Given the description of an element on the screen output the (x, y) to click on. 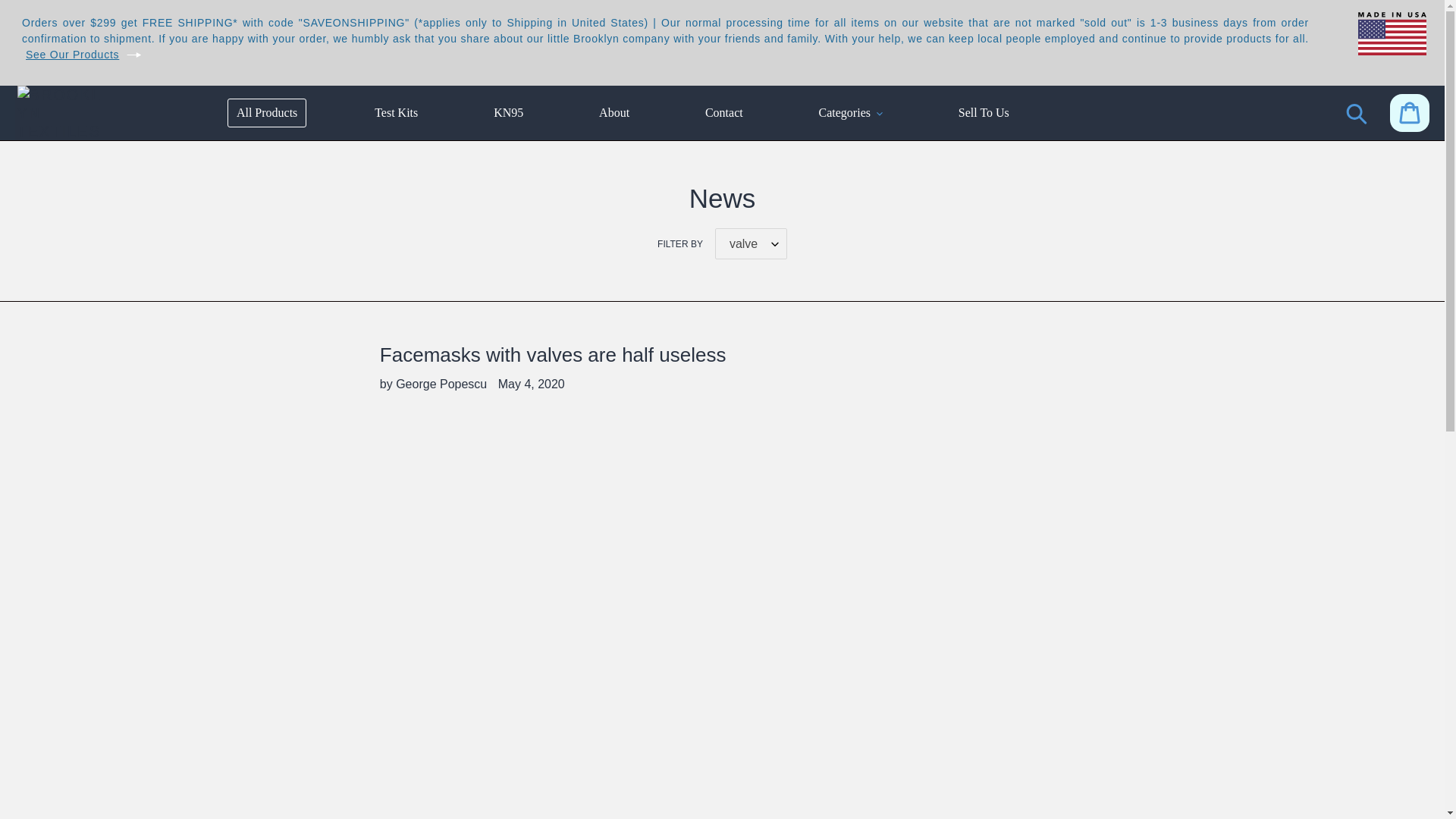
Test Kits (395, 112)
Sell To Us (983, 112)
Categories (849, 112)
All Products (266, 112)
About (614, 112)
Cart (1409, 112)
KN95 (508, 112)
Search (1357, 112)
Contact (724, 112)
